Given the description of an element on the screen output the (x, y) to click on. 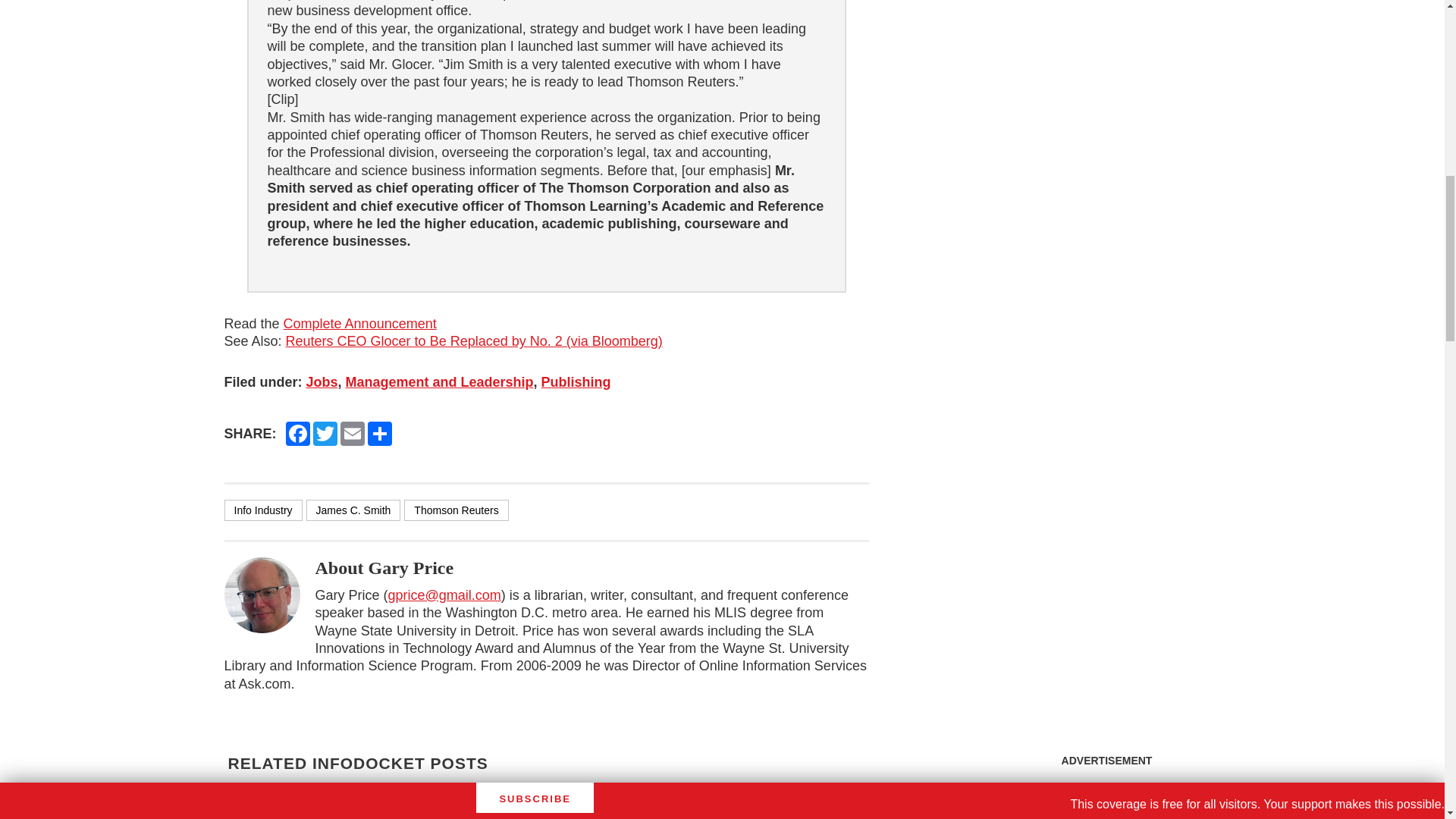
3rd party ad content (1106, 76)
3rd party ad content (1106, 796)
